Given the description of an element on the screen output the (x, y) to click on. 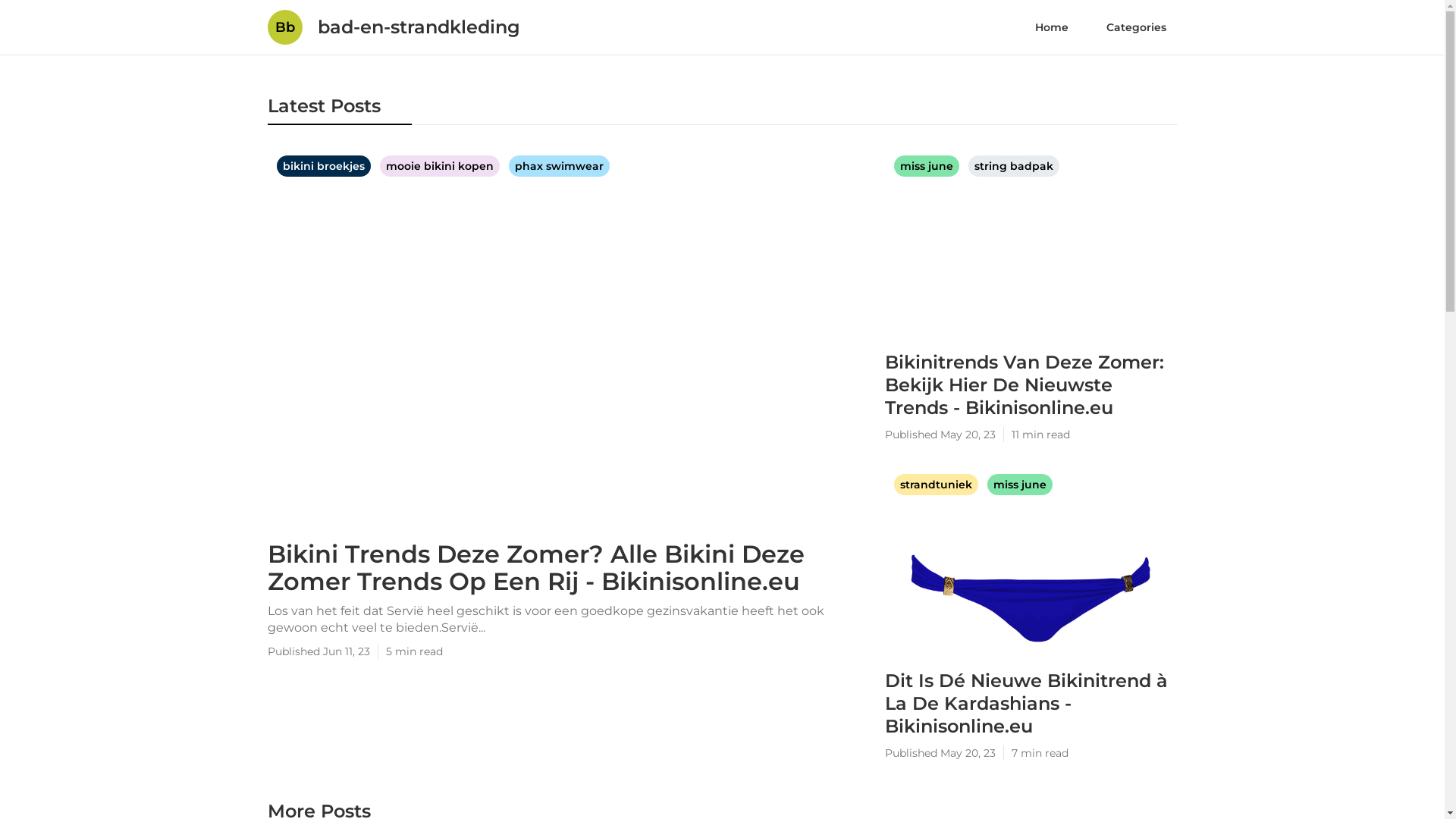
miss june Element type: text (927, 165)
Categories Element type: text (1136, 26)
phax swimwear Element type: text (558, 165)
strandtuniek Element type: text (936, 484)
mooie bikini kopen Element type: text (440, 165)
bikini broekjes Element type: text (324, 165)
Home Element type: text (1051, 26)
string badpak Element type: text (1012, 165)
miss june Element type: text (1019, 484)
